Given the description of an element on the screen output the (x, y) to click on. 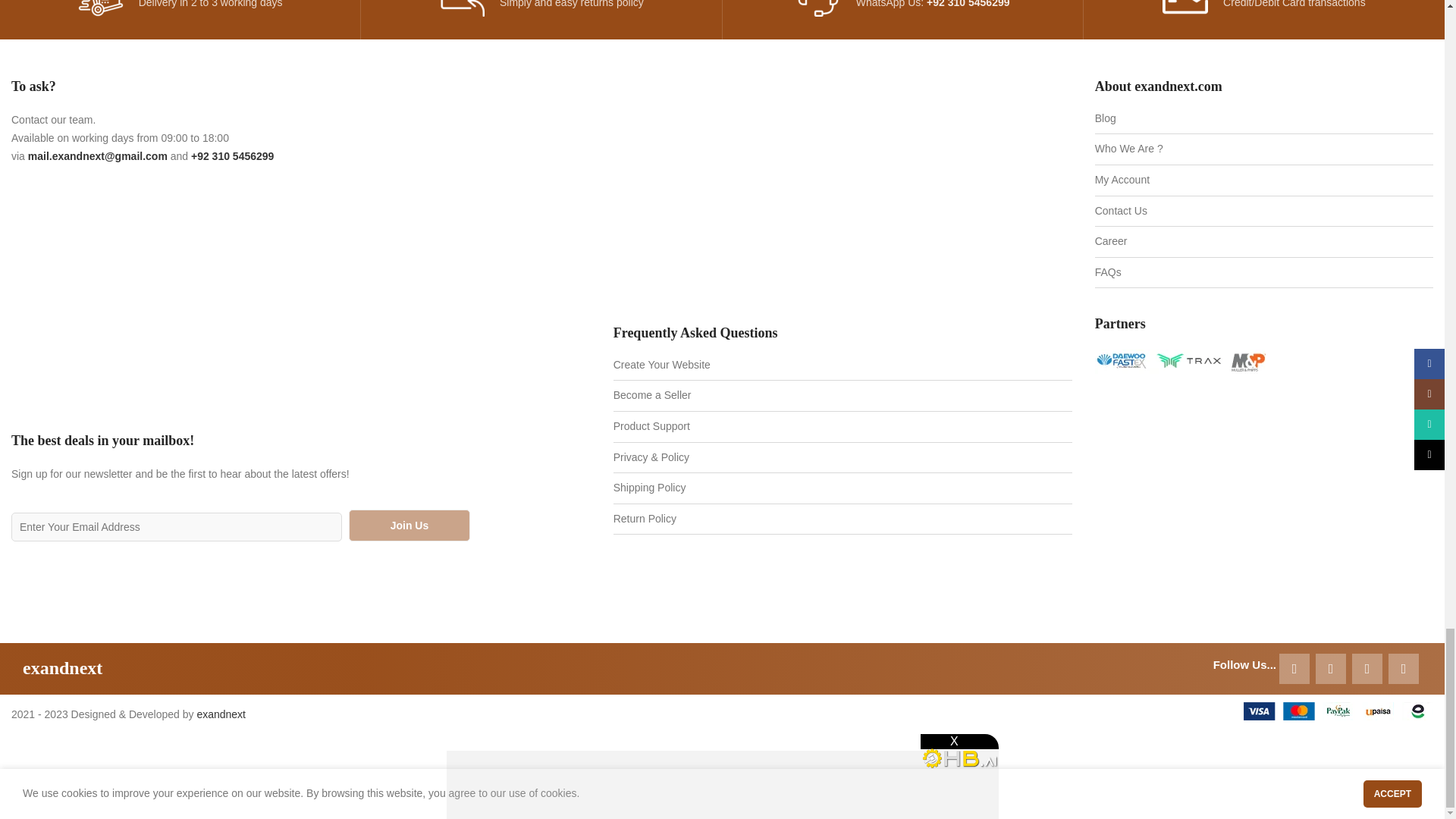
3rd party ad content (240, 298)
payment2.2 (1337, 710)
courier brands (1179, 361)
3rd party ad content (1264, 487)
3rd party ad content (841, 191)
